Given the description of an element on the screen output the (x, y) to click on. 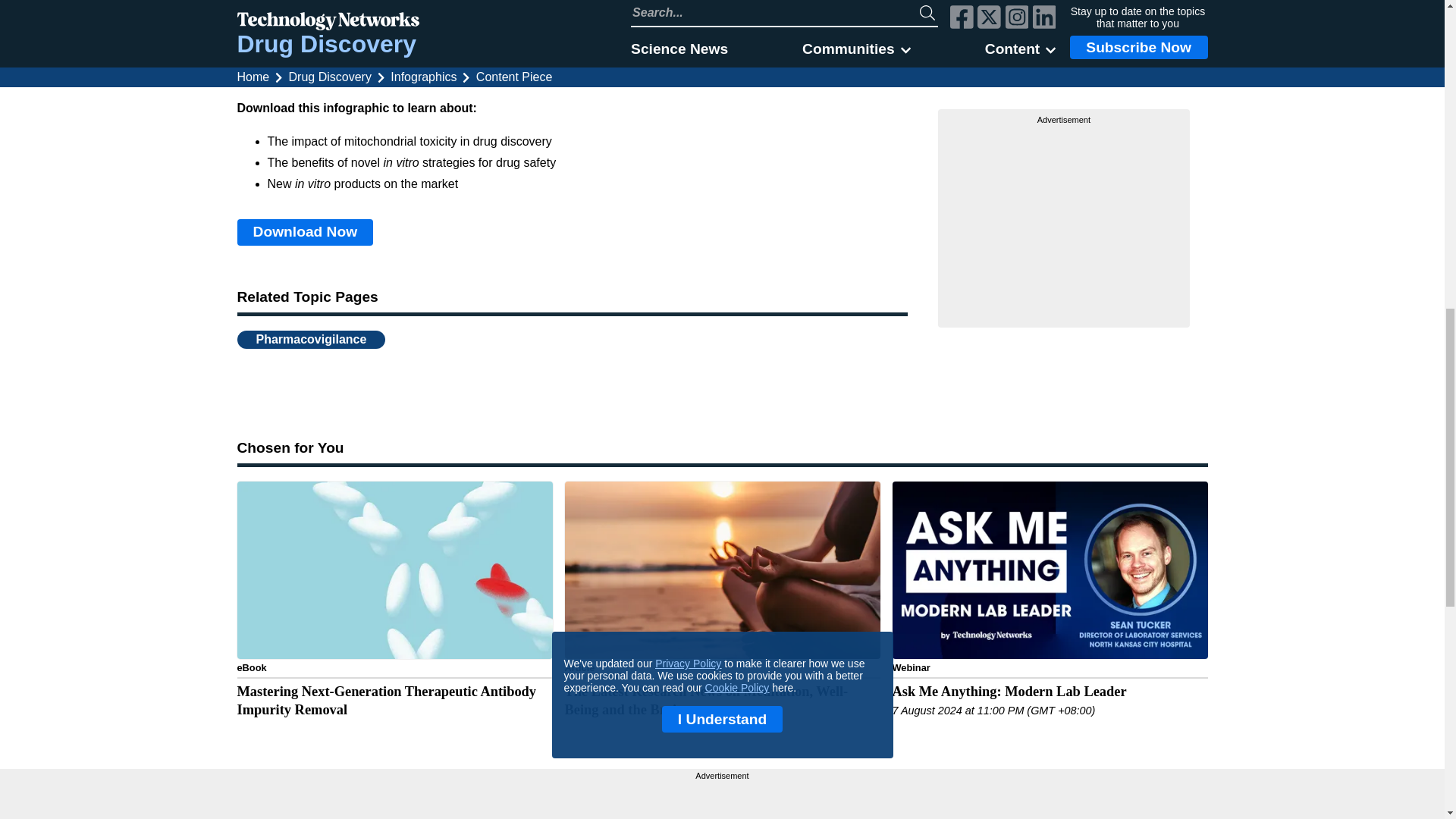
Click to view "Ask Me Anything: Modern Lab Leader" (1049, 616)
